Given the description of an element on the screen output the (x, y) to click on. 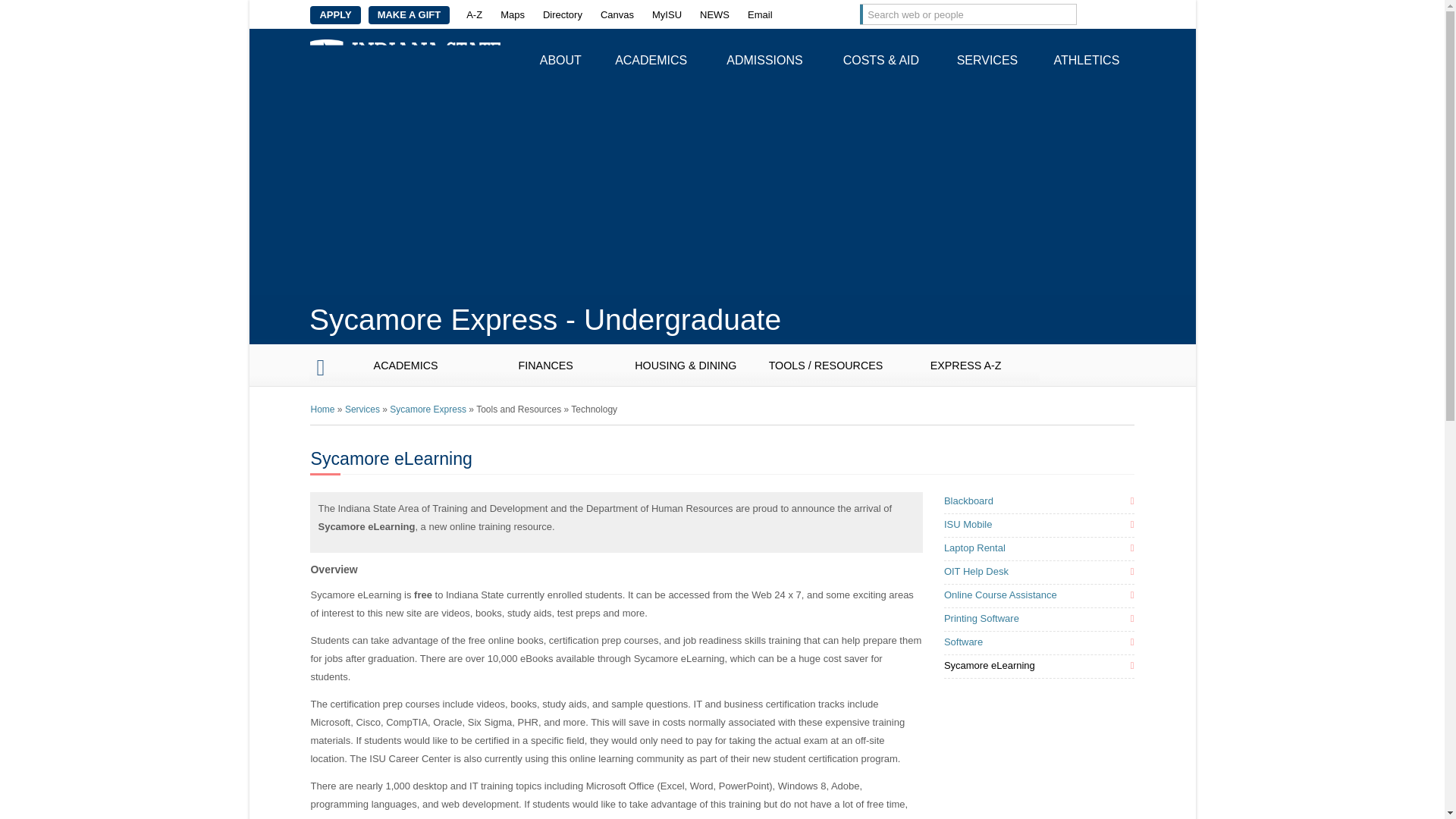
Enter the terms you wish to search for. (956, 14)
MAKE A GIFT (408, 14)
Maps (513, 15)
Home (405, 57)
Apply (334, 14)
Email (759, 15)
NEWS (714, 15)
Give (408, 14)
APPLY (334, 14)
Canvas (617, 15)
